Given the description of an element on the screen output the (x, y) to click on. 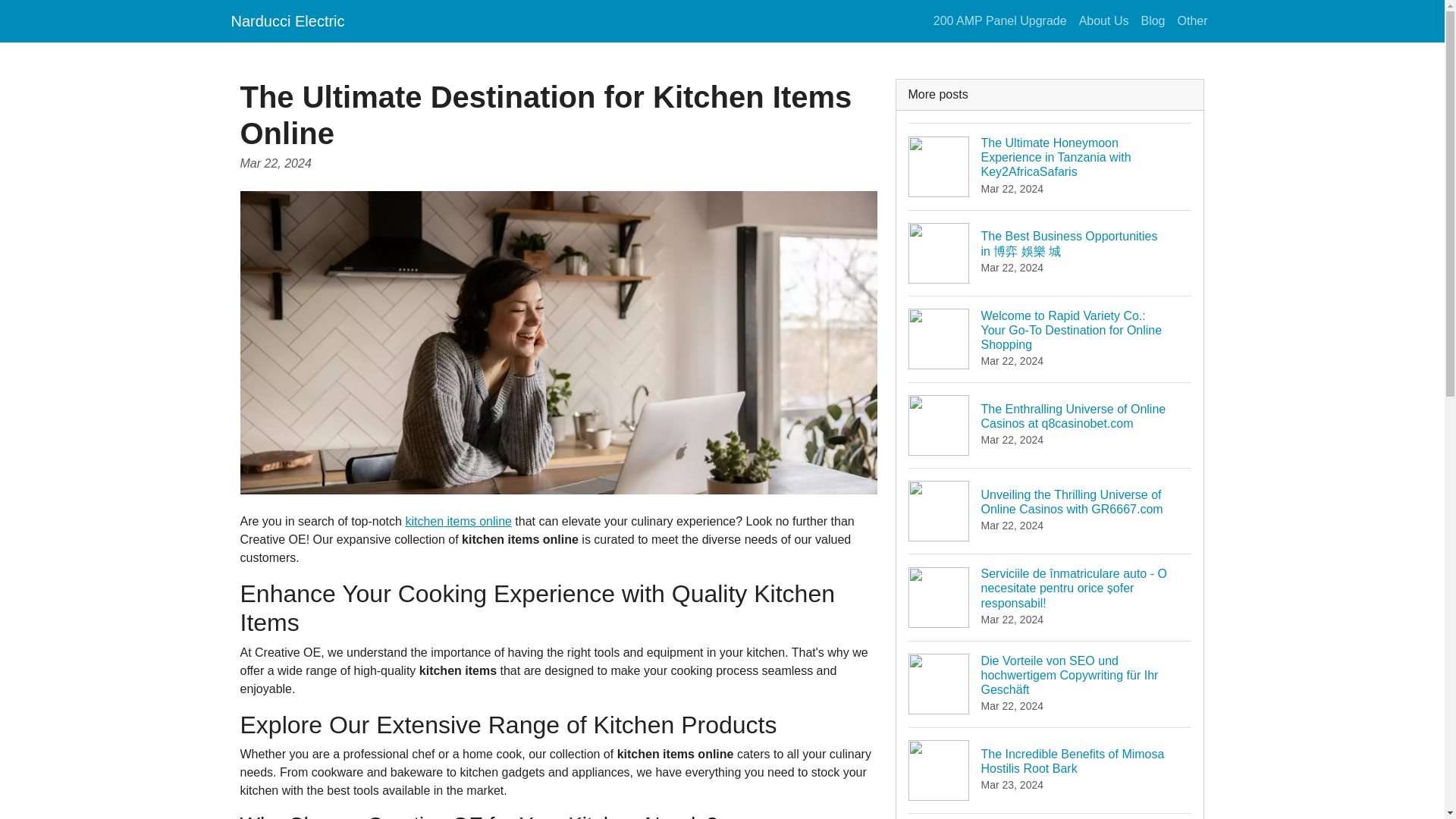
kitchen items online (458, 521)
About Us (1104, 20)
Narducci Electric (286, 20)
Blog (1152, 20)
Other (1191, 20)
